Given the description of an element on the screen output the (x, y) to click on. 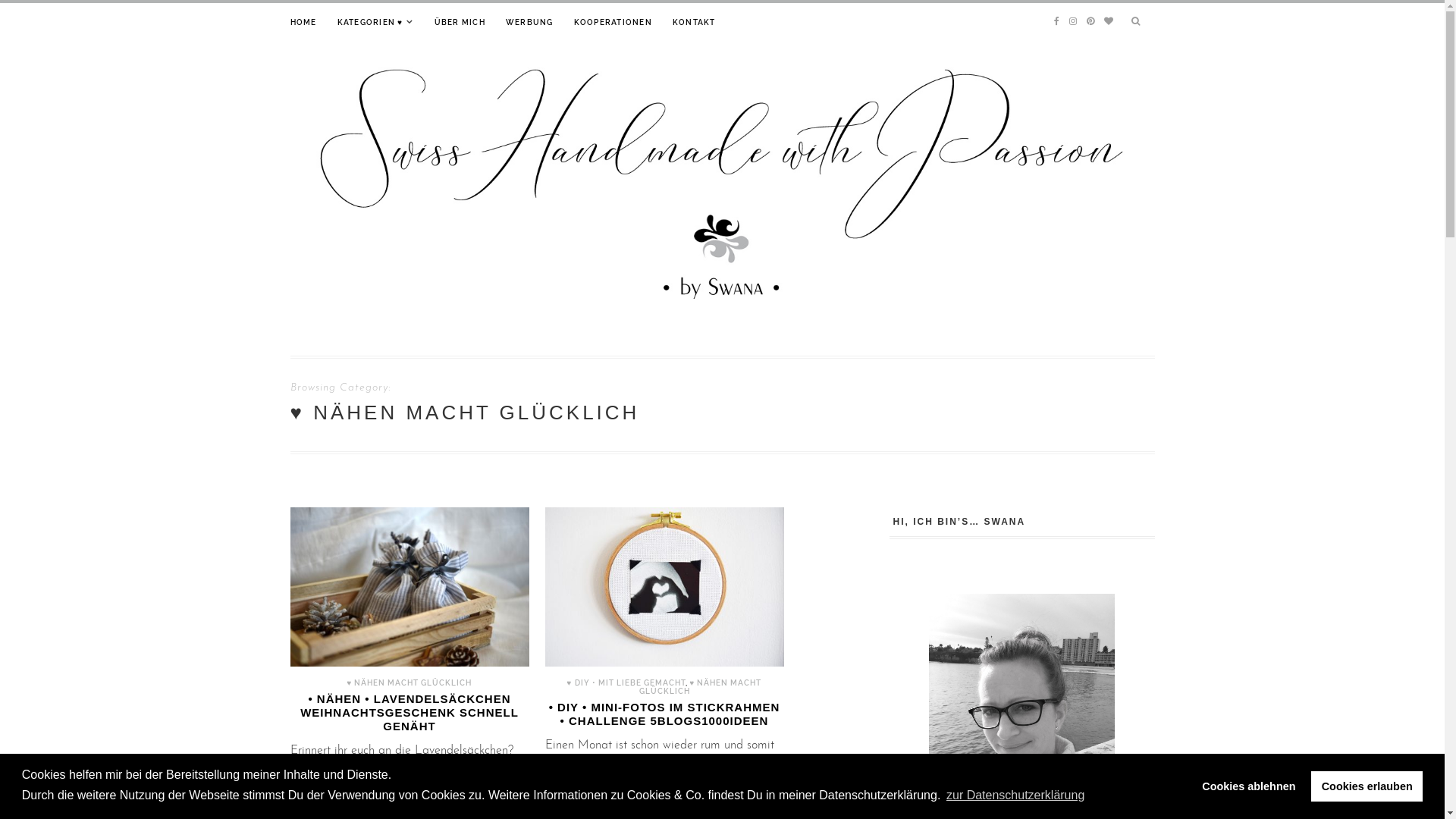
KOOPERATIONEN Element type: text (613, 22)
KONTAKT Element type: text (693, 22)
HOME Element type: text (302, 22)
Cookies erlauben Element type: text (1366, 786)
WERBUNG Element type: text (529, 22)
Cookies ablehnen Element type: text (1248, 786)
